Given the description of an element on the screen output the (x, y) to click on. 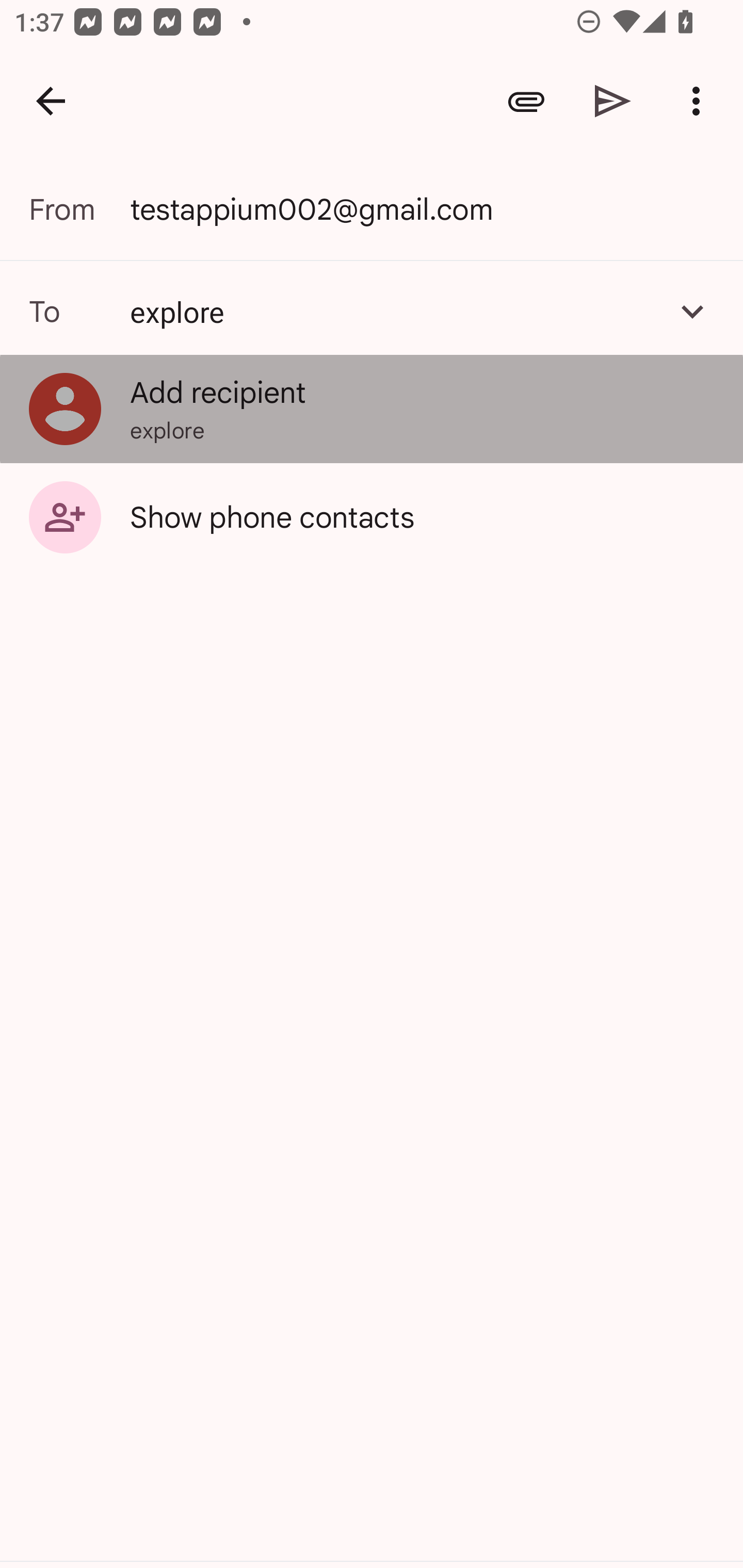
Navigate up (50, 101)
Attach file (525, 101)
Send (612, 101)
More options (699, 101)
From (79, 209)
Add Cc/Bcc (692, 311)
explore (371, 311)
explore (393, 311)
Show phone contacts (371, 516)
